Given the description of an element on the screen output the (x, y) to click on. 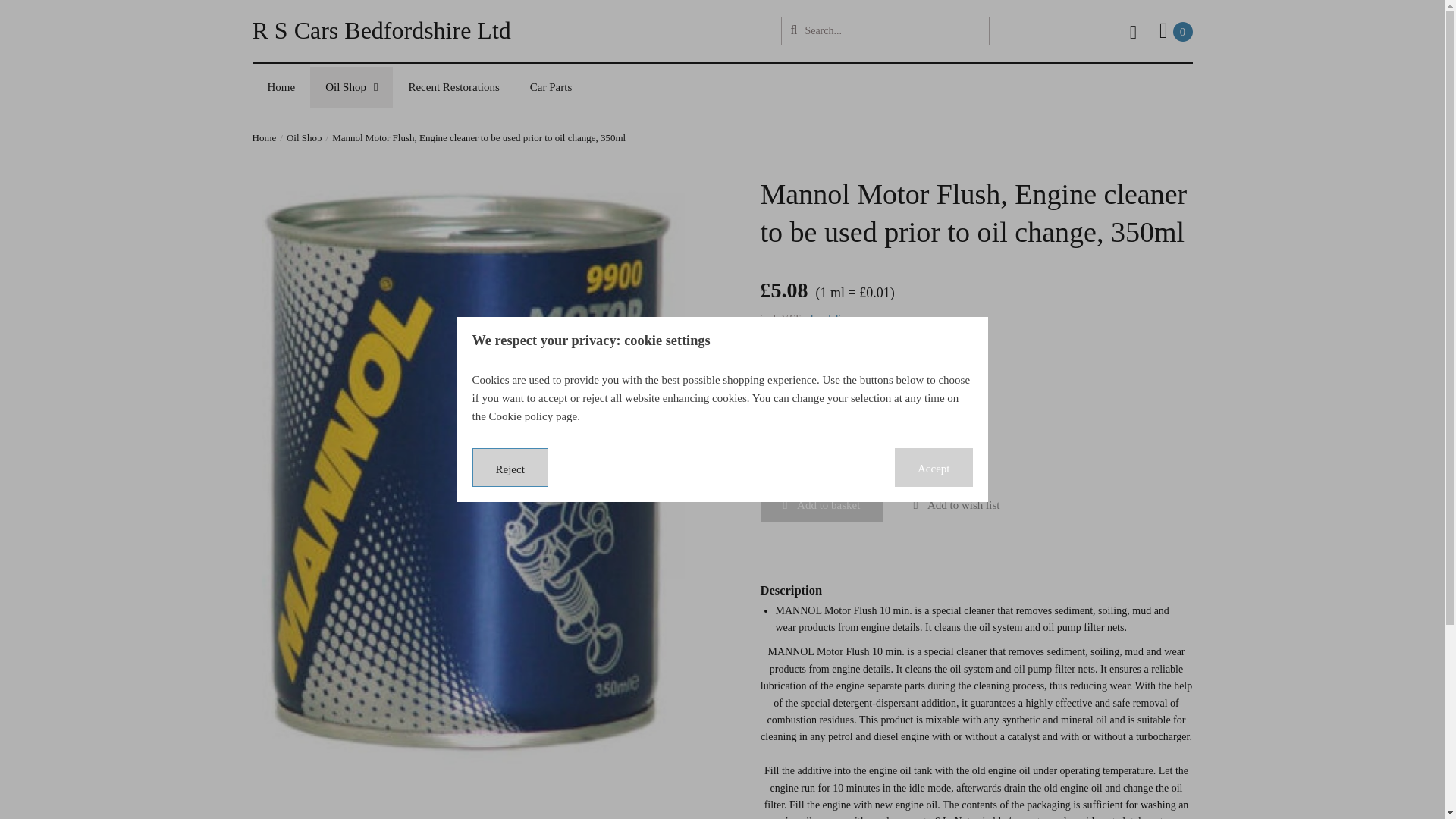
Search (793, 30)
Oil Shop (1175, 30)
Home (351, 86)
1 (280, 86)
R S Cars Bedfordshire Ltd (802, 435)
R S Cars Bedfordshire Ltd (381, 30)
